Given the description of an element on the screen output the (x, y) to click on. 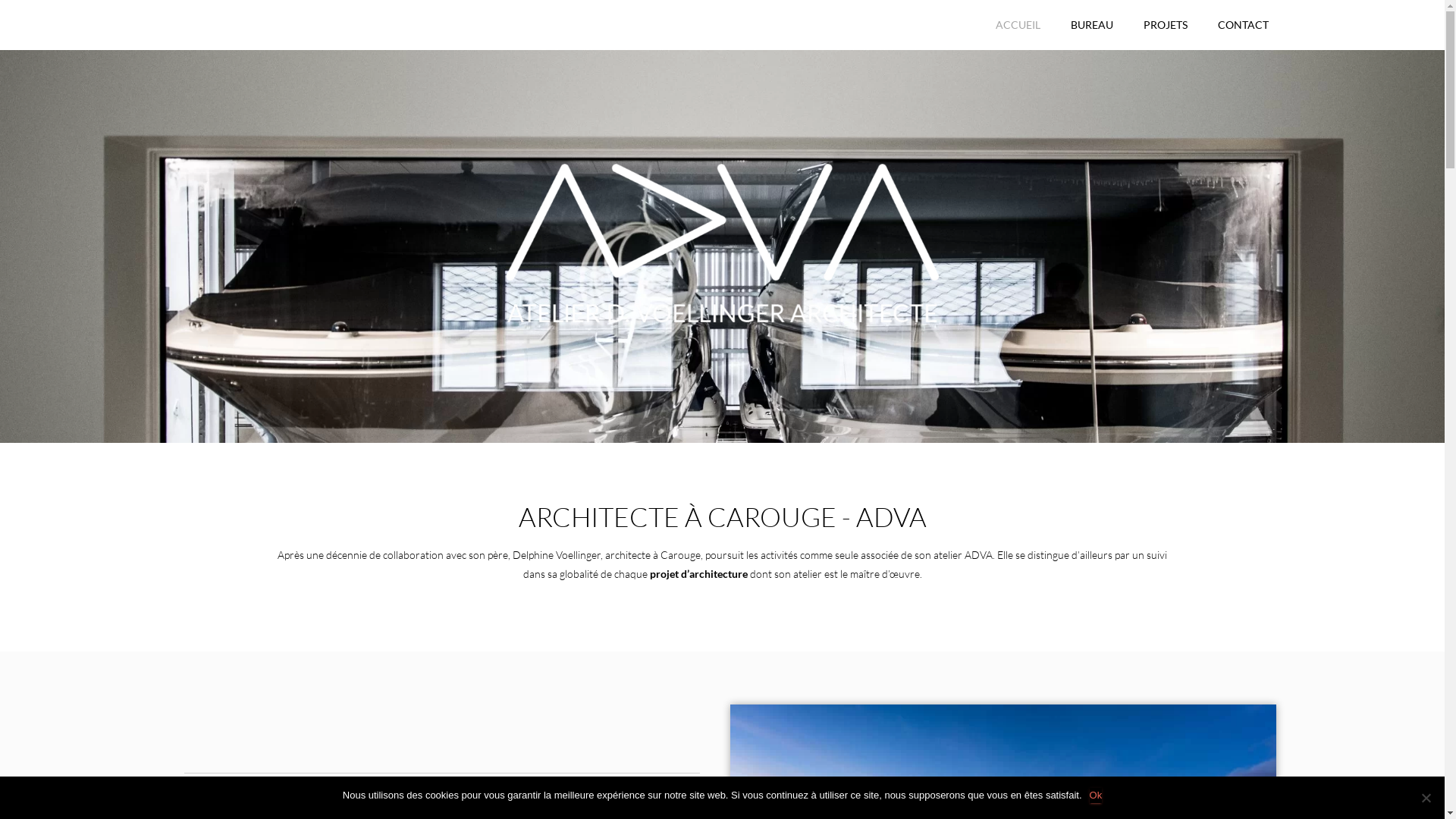
CONTACT Element type: text (1242, 24)
BUREAU Element type: text (1091, 24)
Non Element type: hover (1425, 797)
Ok Element type: text (1095, 795)
ACCUEIL Element type: text (1016, 24)
PROJETS Element type: text (1165, 24)
